Given the description of an element on the screen output the (x, y) to click on. 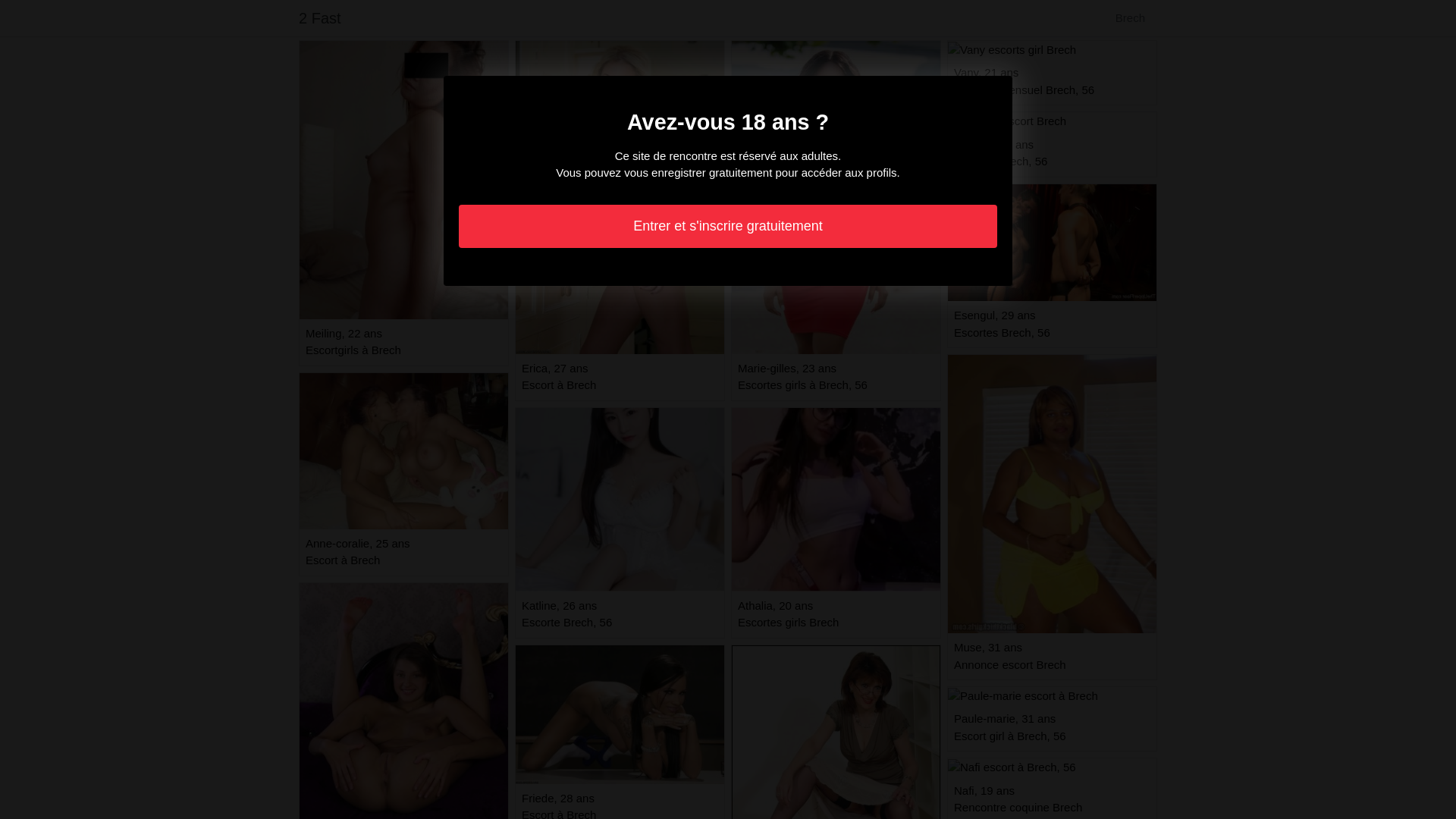
Entrer et s'inscrire gratuitement Element type: text (727, 225)
2 Fast Element type: text (319, 18)
